Given the description of an element on the screen output the (x, y) to click on. 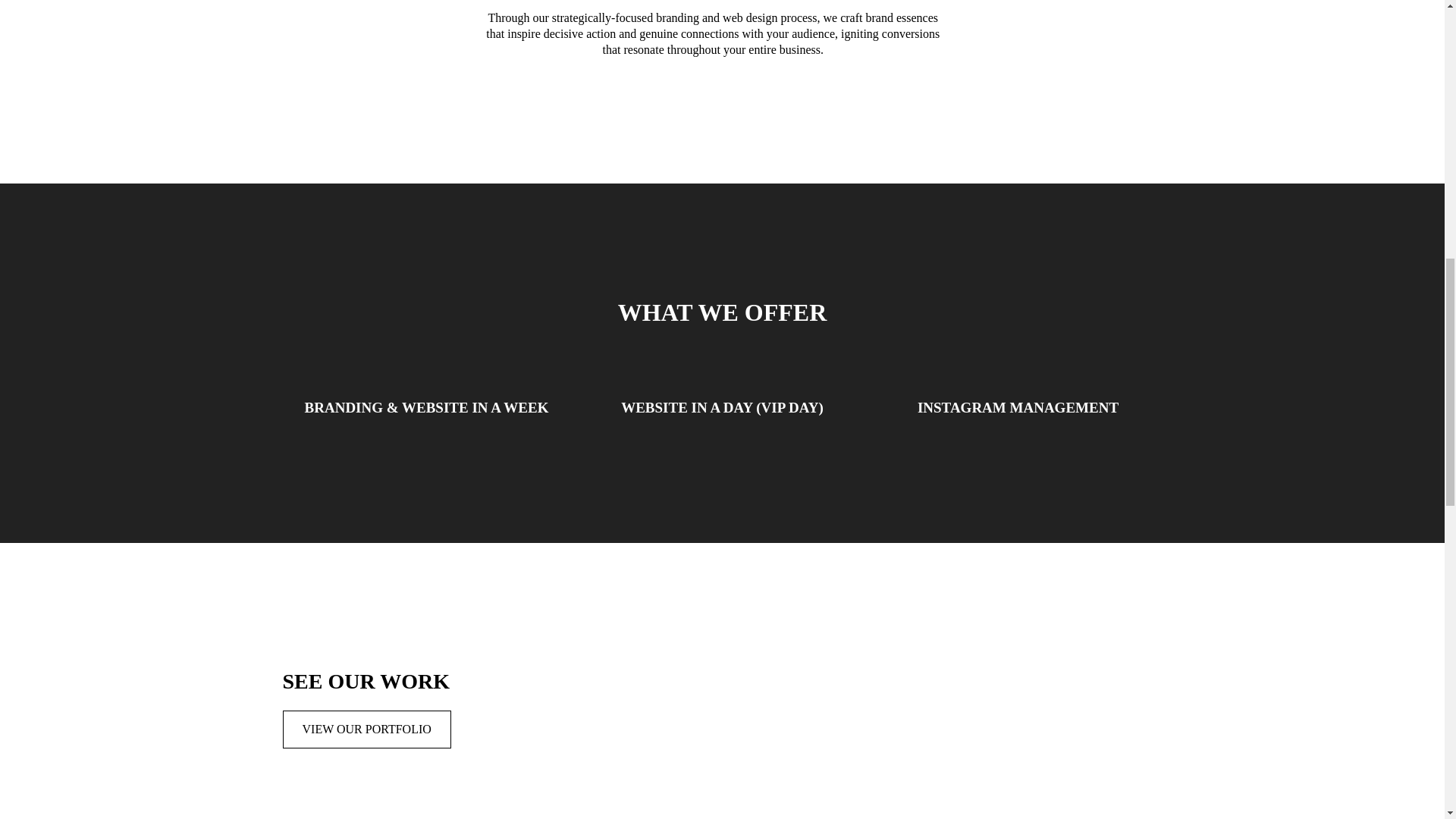
VIEW OUR PORTFOLIO (365, 729)
